Given the description of an element on the screen output the (x, y) to click on. 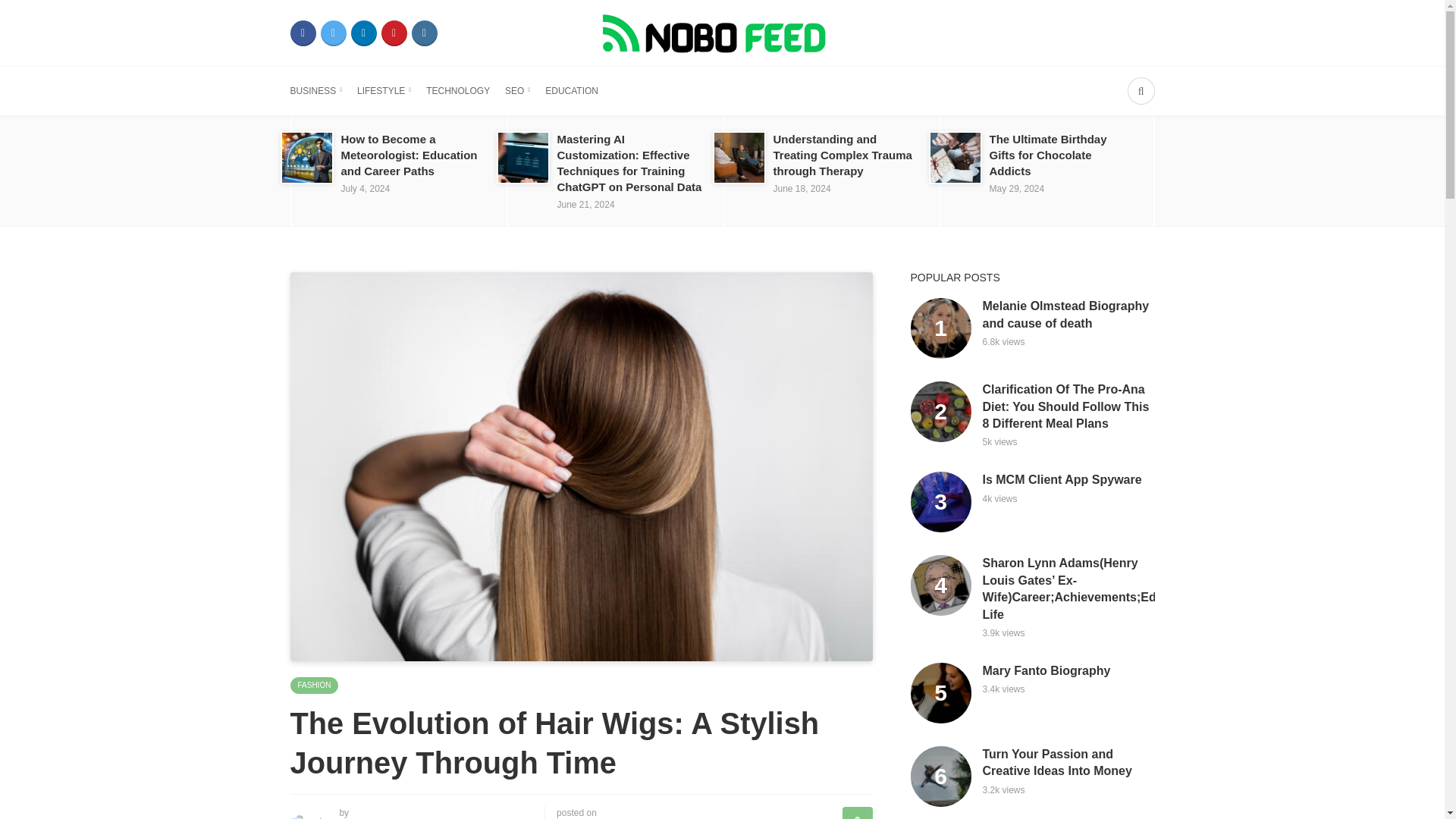
Linkedin (362, 32)
July 4, 2024 (365, 188)
Instagram (423, 32)
View all posts in Fashion (313, 685)
EDUCATION (571, 90)
May 29, 2024 (1015, 188)
LIFESTYLE (383, 90)
Nobofeed (721, 32)
SEO (517, 90)
twitter (333, 32)
June 18, 2024 (802, 188)
TECHNOLOGY (457, 90)
facebook (302, 32)
June 21, 2024 (585, 204)
